Given the description of an element on the screen output the (x, y) to click on. 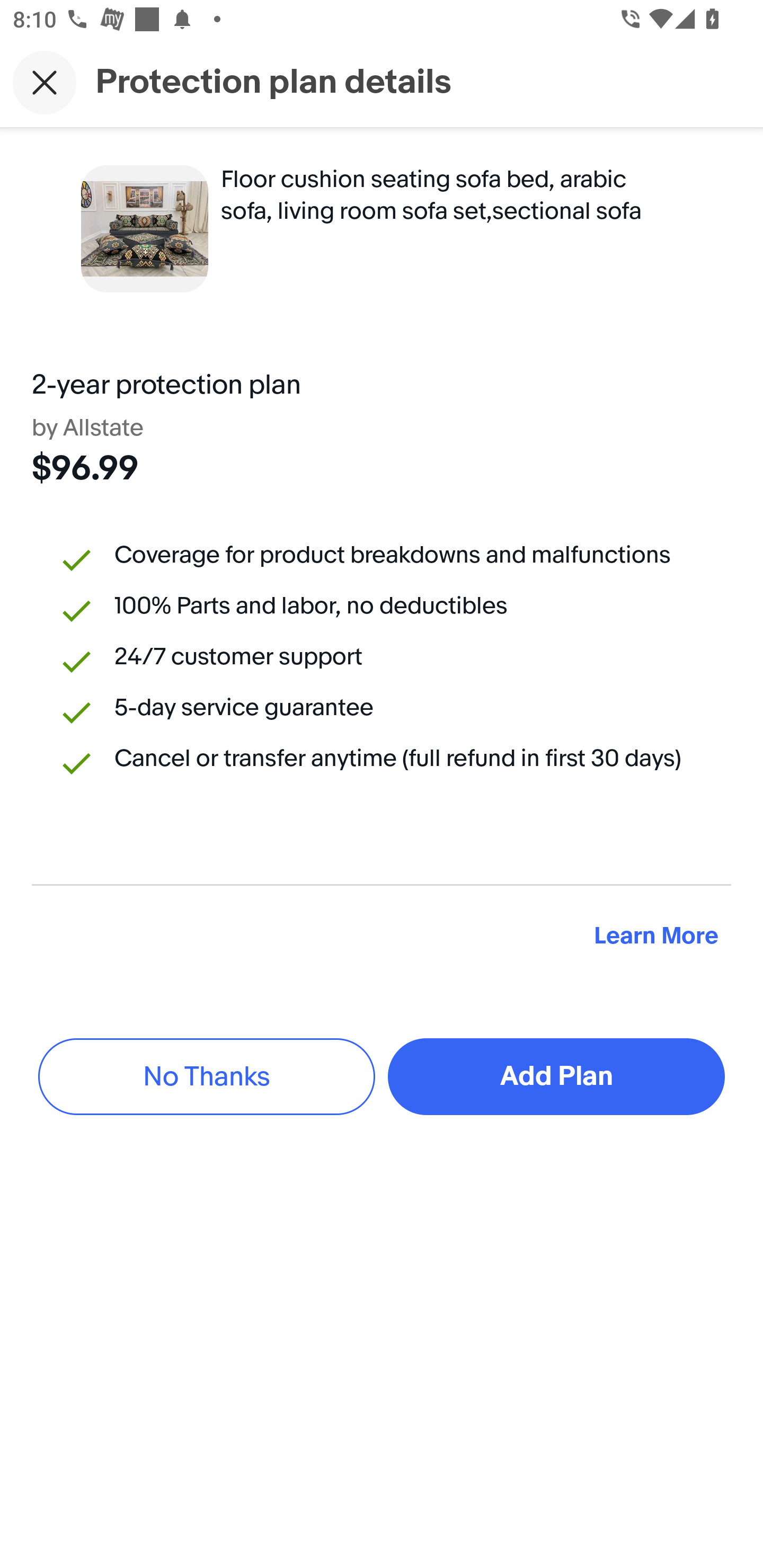
Close (44, 82)
Learn More Learn more about Protection Plan (655, 936)
Add Plan (555, 1076)
